Given the description of an element on the screen output the (x, y) to click on. 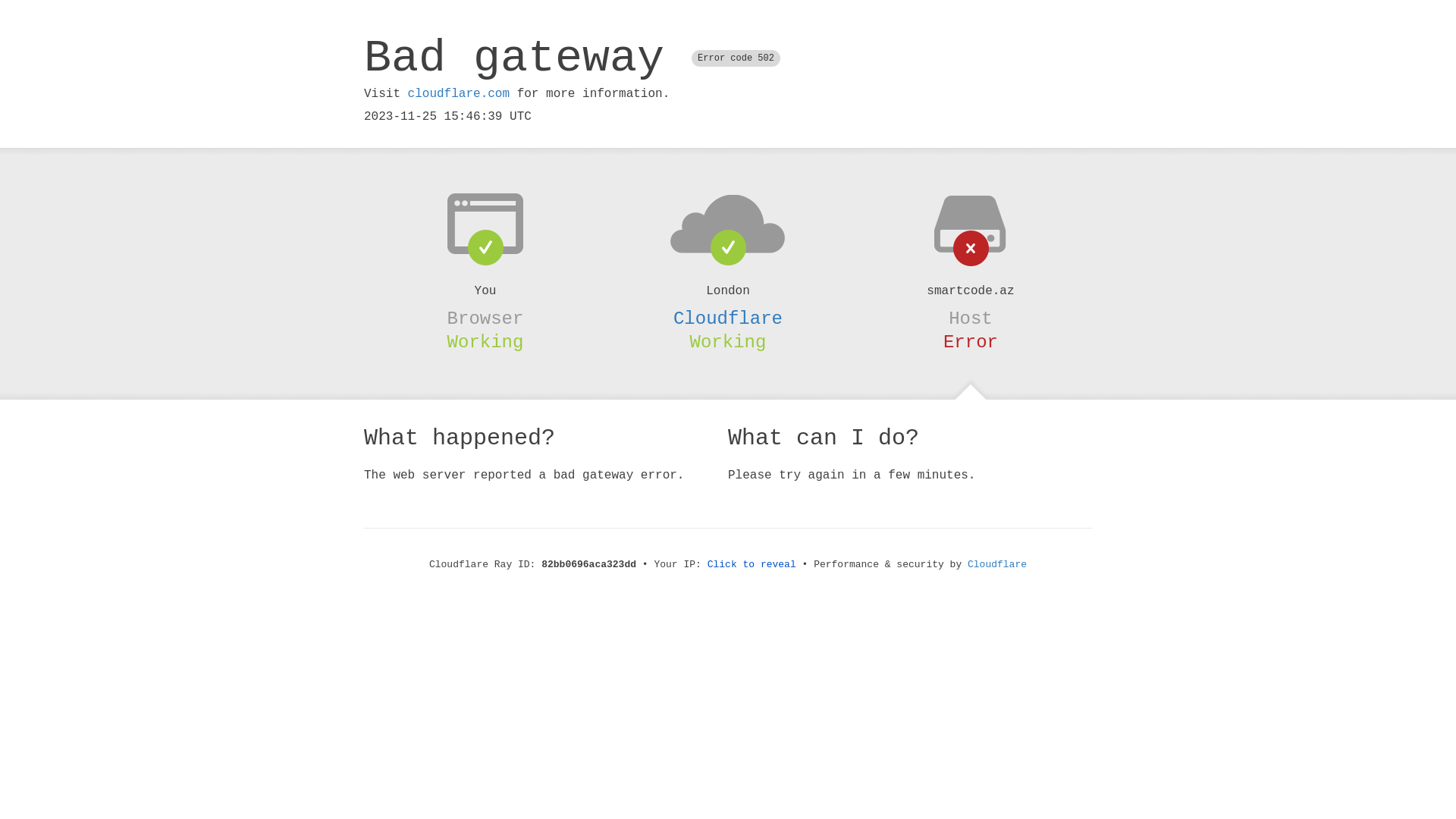
cloudflare.com Element type: text (458, 93)
Cloudflare Element type: text (727, 318)
Click to reveal Element type: text (751, 564)
Cloudflare Element type: text (996, 564)
